Given the description of an element on the screen output the (x, y) to click on. 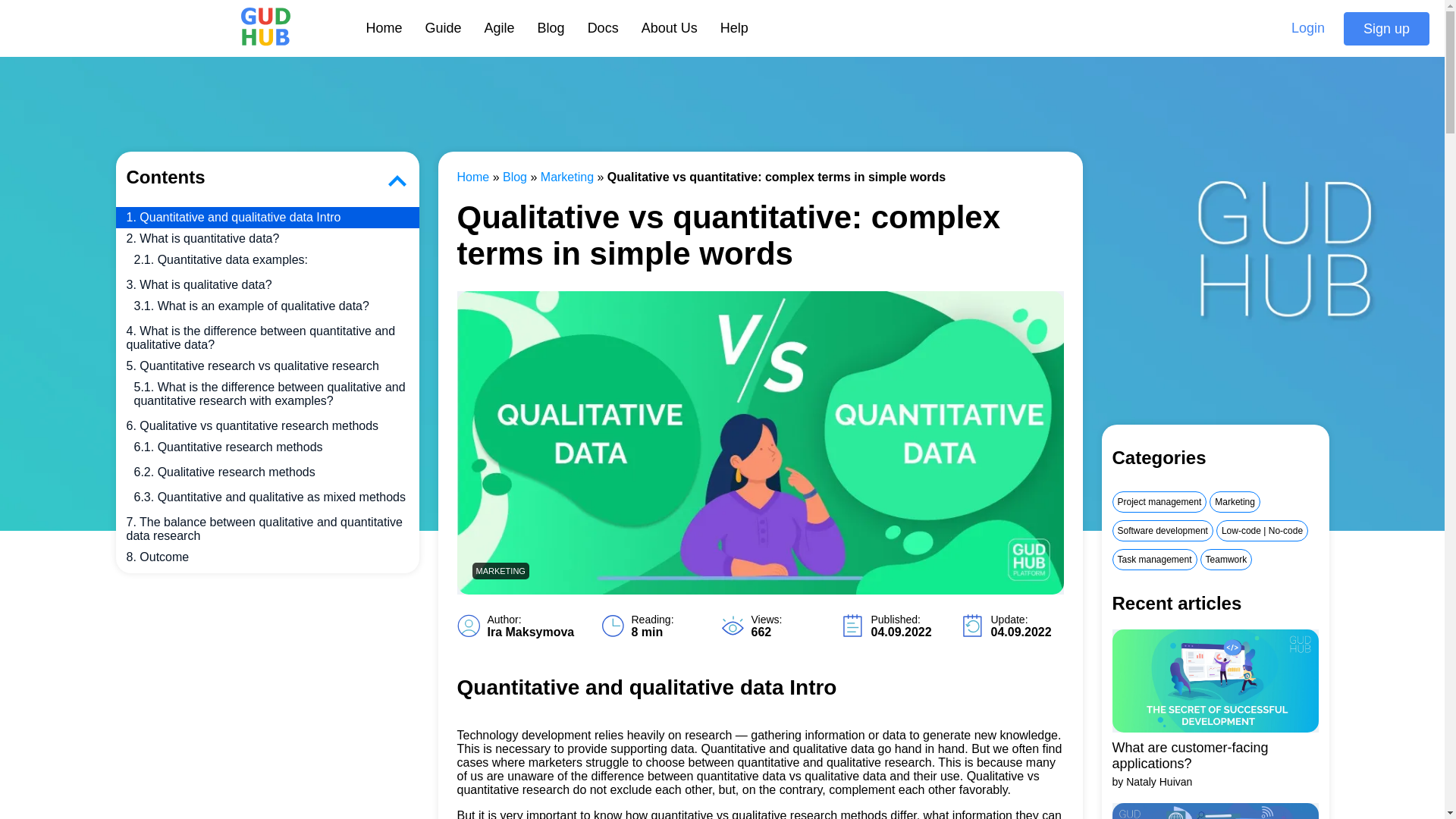
6.3. Quantitative and qualitative as mixed methods (267, 496)
Task management (1154, 559)
8. Outcome (267, 560)
2.1. Quantitative data examples: (267, 260)
Project management (1159, 501)
Teamwork (1225, 559)
Sign up (1385, 28)
Marketing (1234, 501)
About Us (669, 28)
3. What is qualitative data? (267, 284)
